Given the description of an element on the screen output the (x, y) to click on. 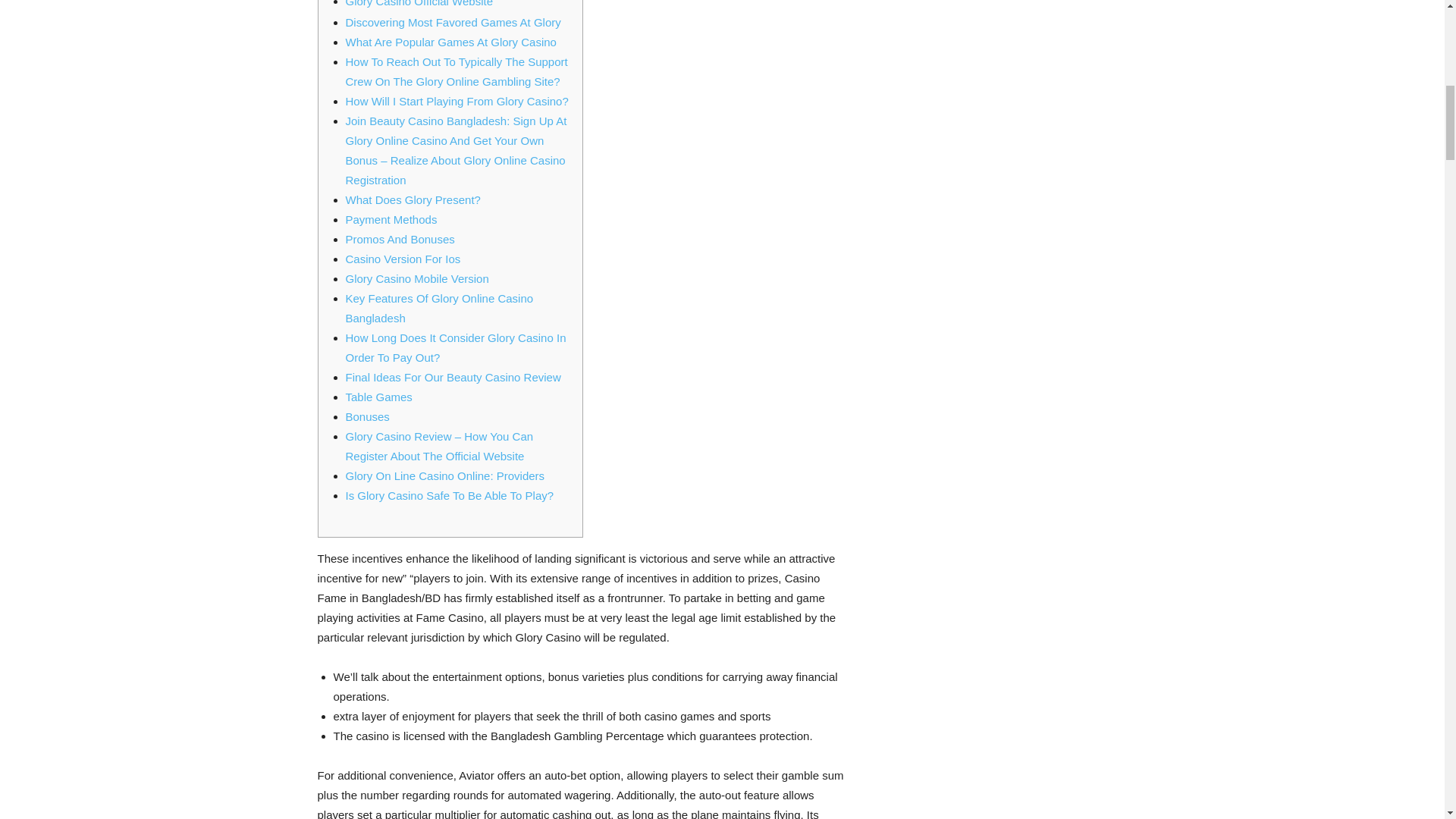
Table Games (379, 395)
How Long Does It Consider Glory Casino In Order To Pay Out? (456, 346)
Promos And Bonuses (400, 237)
Final Ideas For Our Beauty Casino Review (453, 376)
What Are Popular Games At Glory Casino (451, 41)
How Will I Start Playing From Glory Casino? (457, 100)
Payment Methods (392, 218)
Discovering Most Favored Games At Glory (453, 21)
Glory Casino Mobile Version (417, 277)
What Does Glory Present? (413, 198)
Bonuses (368, 415)
Glory Casino Official Website (429, 3)
Casino Version For Ios (403, 257)
Key Features Of Glory Online Casino Bangladesh (440, 307)
